Given the description of an element on the screen output the (x, y) to click on. 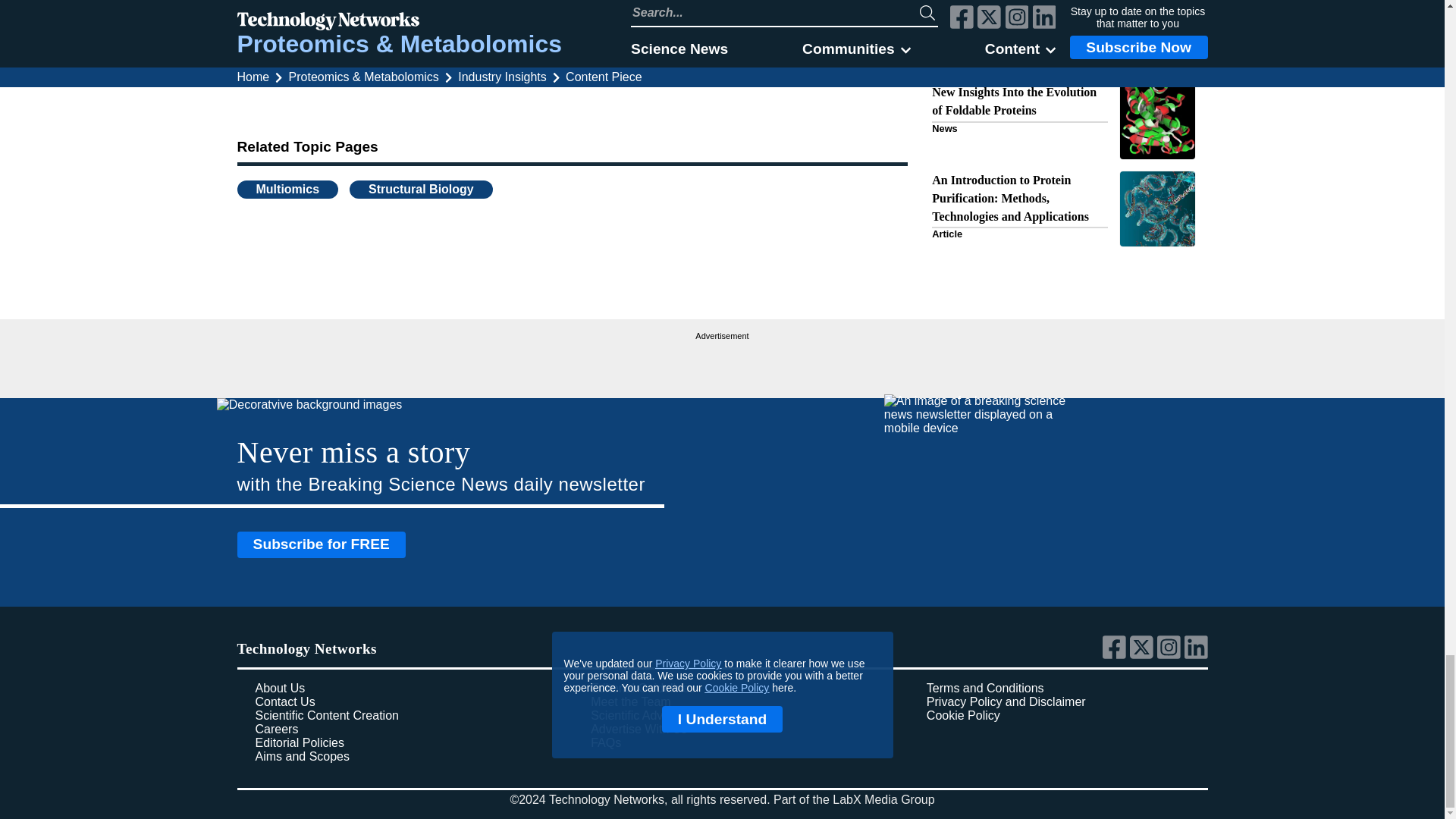
Link to Technology Networks' twitter page (1143, 655)
Link to Technology Networks' facebook page (1115, 655)
Link to Technology Networks' instagram page (1171, 655)
Link to Technology Networks' linkedin page (1196, 655)
3rd party ad content (721, 362)
